Given the description of an element on the screen output the (x, y) to click on. 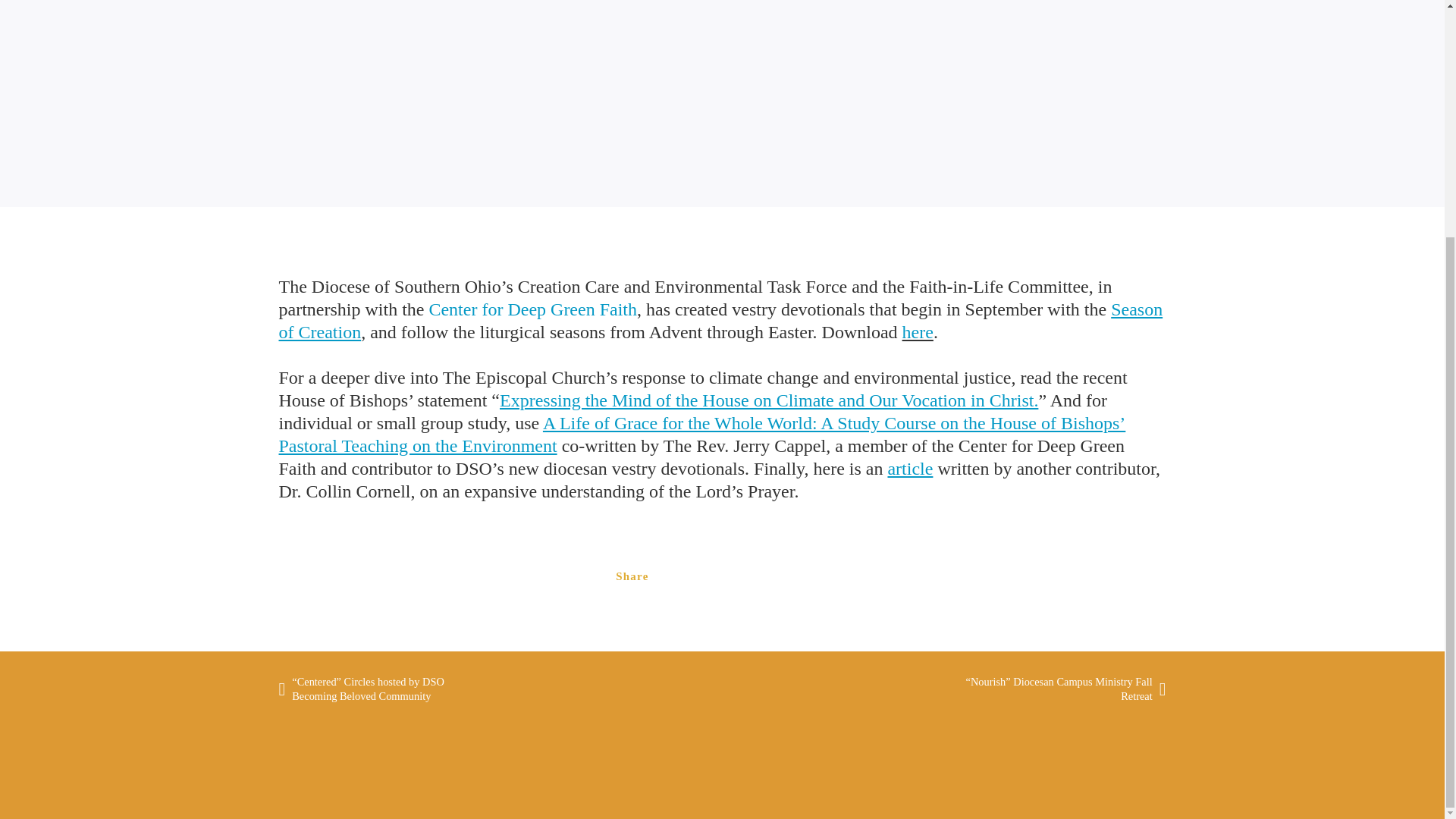
Center for Deep Green Faith (532, 309)
Facebook (746, 576)
article (909, 468)
E-Mail (686, 576)
here (917, 332)
Creation Care Resources (746, 576)
Creation Care Resources (807, 576)
Season of Creation (721, 320)
Twitter (807, 576)
